Given the description of an element on the screen output the (x, y) to click on. 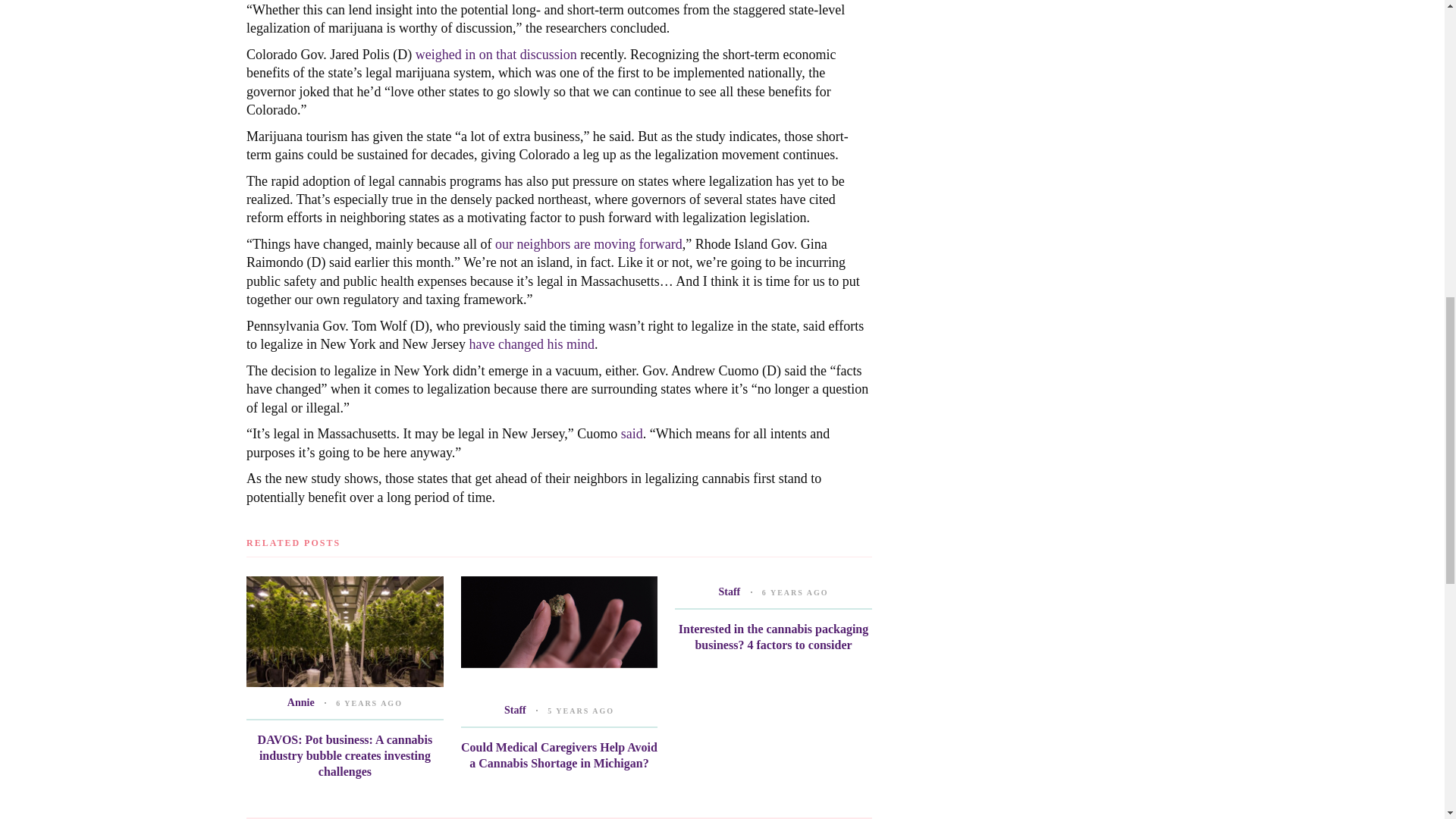
have changed his mind (531, 344)
our neighbors are moving forward (588, 243)
Posts by Annie (300, 702)
Annie (300, 702)
weighed in on that discussion (495, 54)
Staff (730, 591)
said (632, 433)
